Given the description of an element on the screen output the (x, y) to click on. 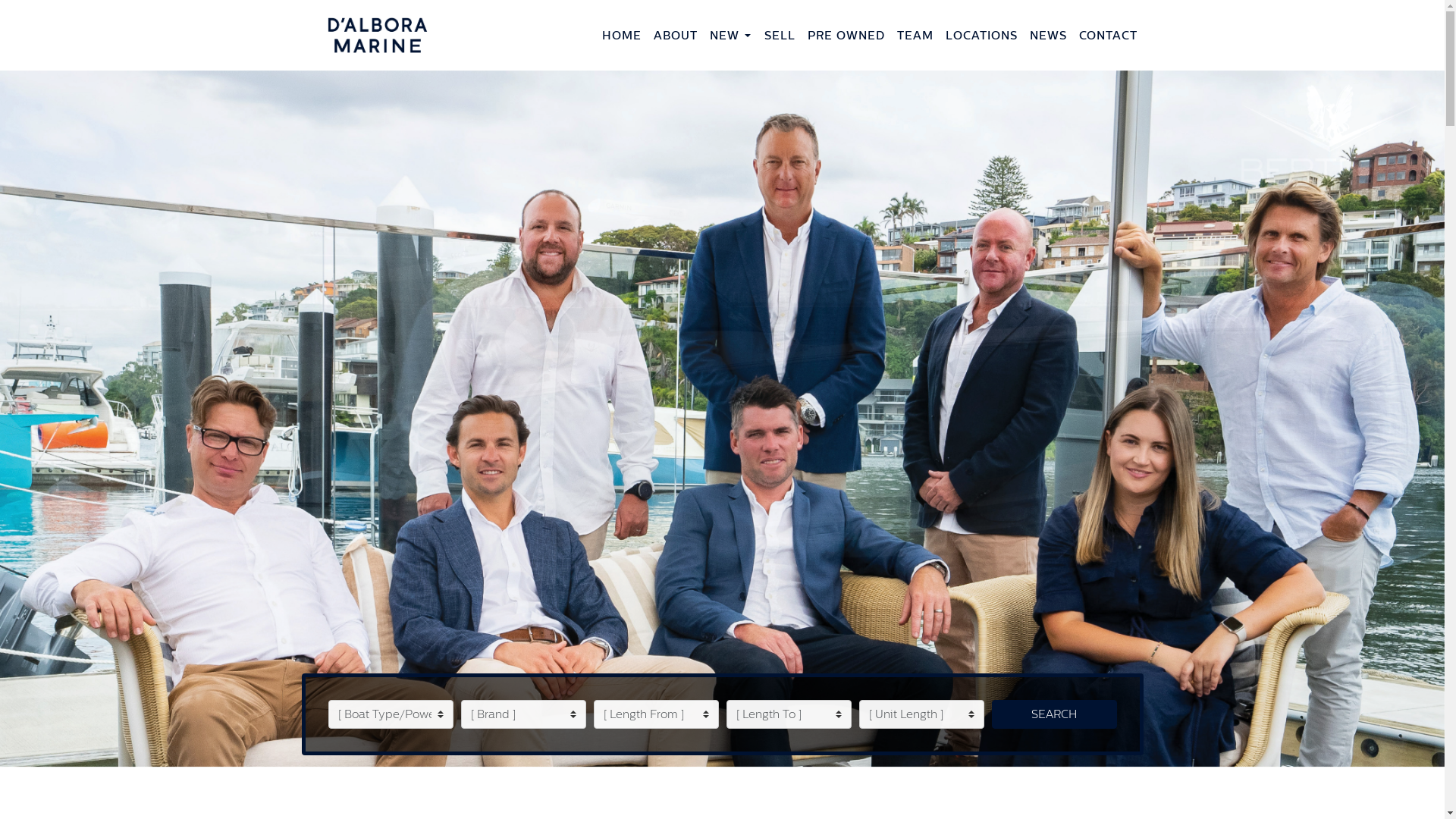
HOME Element type: text (621, 35)
SEARCH Element type: text (1054, 713)
NEW Element type: text (724, 35)
CONTACT Element type: text (1107, 35)
TEAM Element type: text (914, 35)
SELL Element type: text (779, 35)
LOCATIONS Element type: text (980, 35)
ABOUT Element type: text (675, 35)
NEWS Element type: text (1048, 35)
PRE OWNED Element type: text (845, 35)
